Given the description of an element on the screen output the (x, y) to click on. 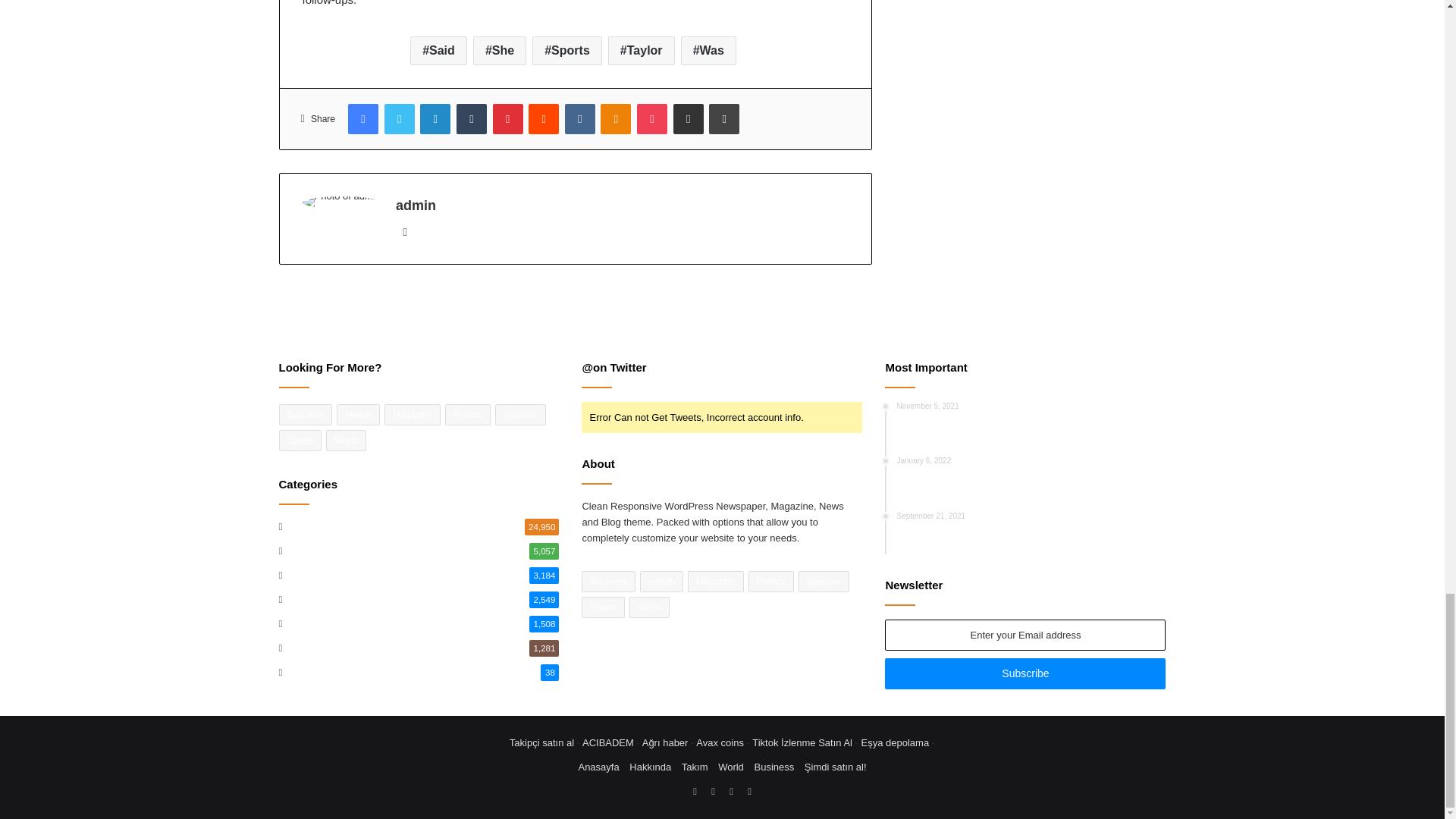
Taylor (641, 50)
Subscribe (1025, 673)
Sports (567, 50)
Said (438, 50)
She (499, 50)
